Given the description of an element on the screen output the (x, y) to click on. 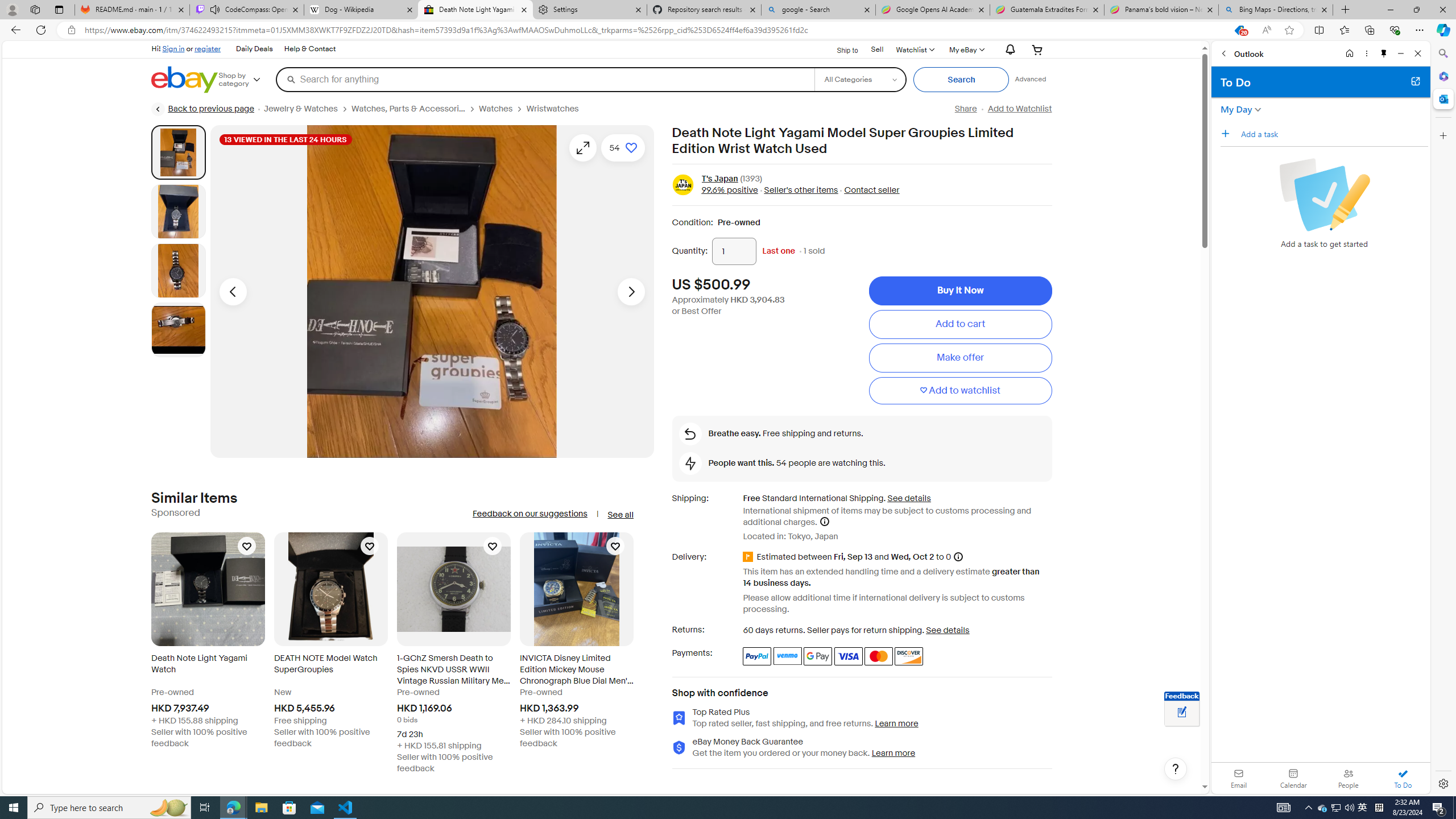
Picture 4 of 4 (178, 329)
Learn more - Top Rated Plus - opens in a new window or tab (896, 722)
WatchlistExpand Watch List (914, 49)
See details for shipping (908, 497)
Add to cart (959, 324)
Expand Cart (1037, 49)
Wristwatches (552, 108)
Picture 1 of 4 (178, 152)
Add to cart (959, 324)
Add to watchlist (959, 390)
See details - for more information about returns (947, 629)
